Given the description of an element on the screen output the (x, y) to click on. 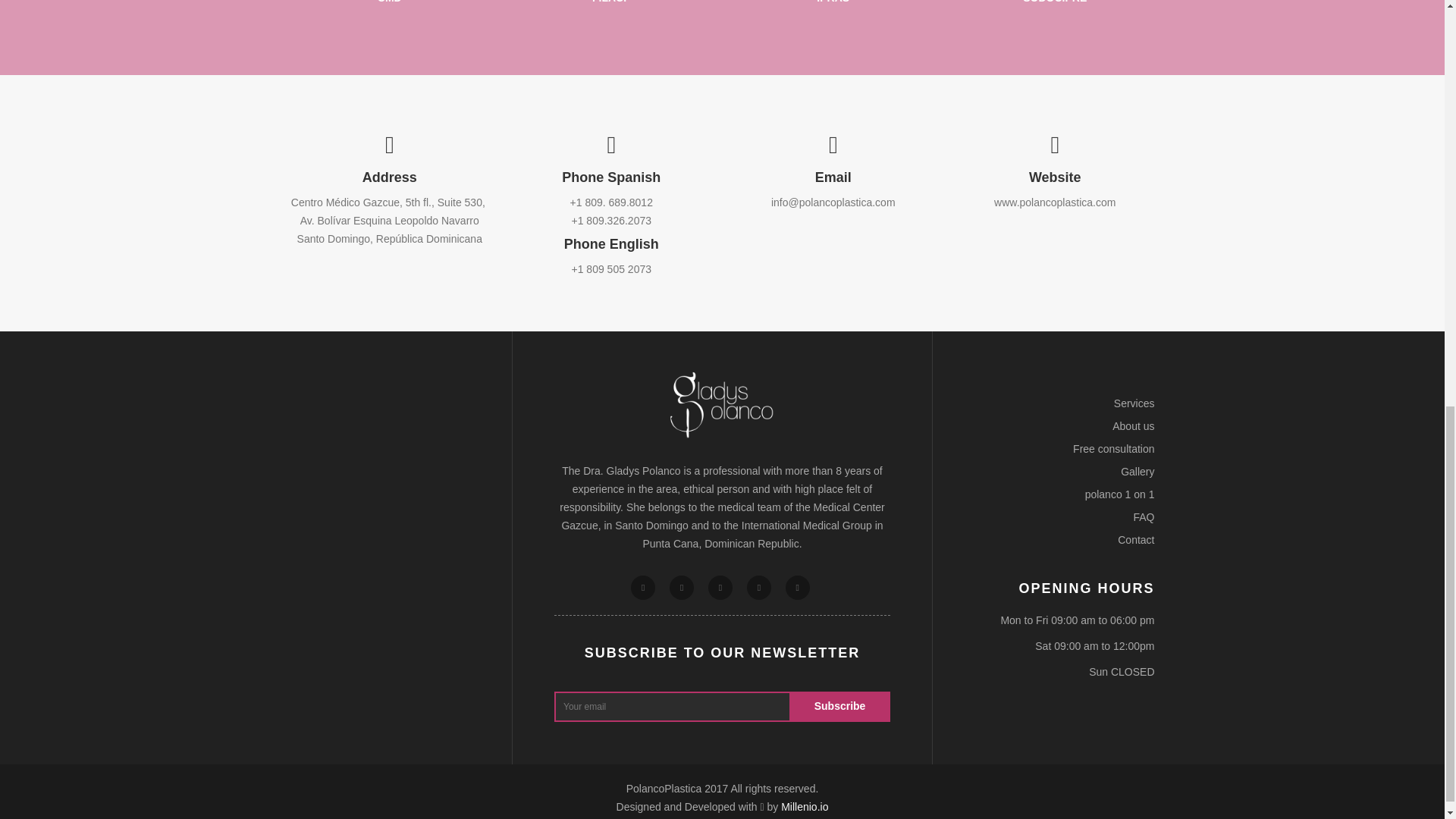
IPRAS (833, 2)
FILACP (611, 2)
CMD (389, 2)
SODOCIPRE (1054, 2)
